Given the description of an element on the screen output the (x, y) to click on. 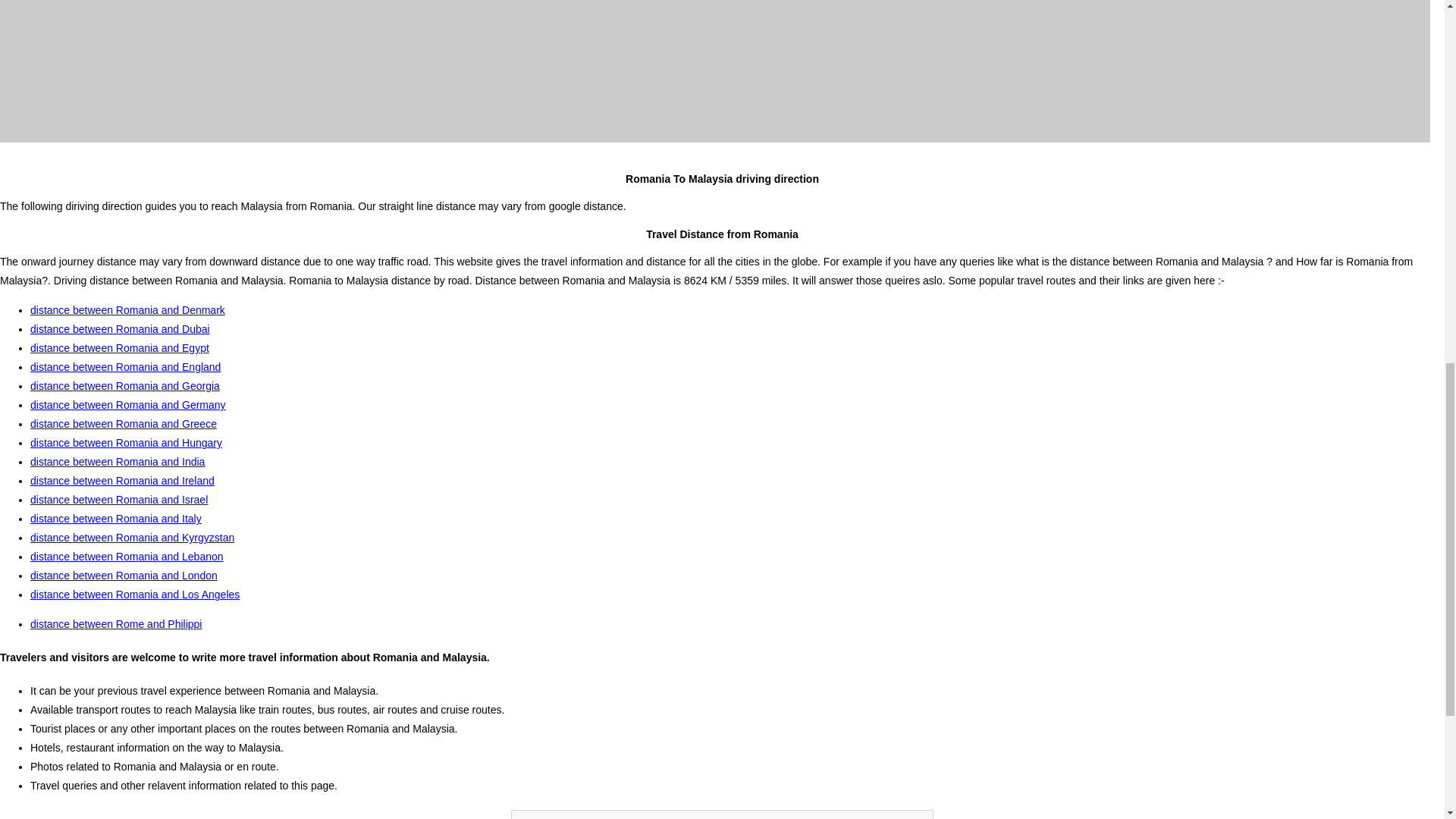
distance between Romania and India (117, 461)
distance between Romania and Israel (119, 499)
distance between Romania and Germany (127, 404)
distance between Romania and Egypt (119, 347)
distance between Romania and Georgia (124, 386)
distance between Romania and England (125, 367)
distance between Romania and Ireland (122, 480)
distance between Romania and Hungary (126, 442)
distance between Romania and Dubai (119, 328)
distance between Romania and Lebanon (127, 556)
distance between Romania and Kyrgyzstan (132, 537)
distance between Romania and Denmark (127, 309)
distance between Romania and Italy (116, 518)
distance between Romania and Greece (123, 423)
distance between Romania and London (123, 575)
